Given the description of an element on the screen output the (x, y) to click on. 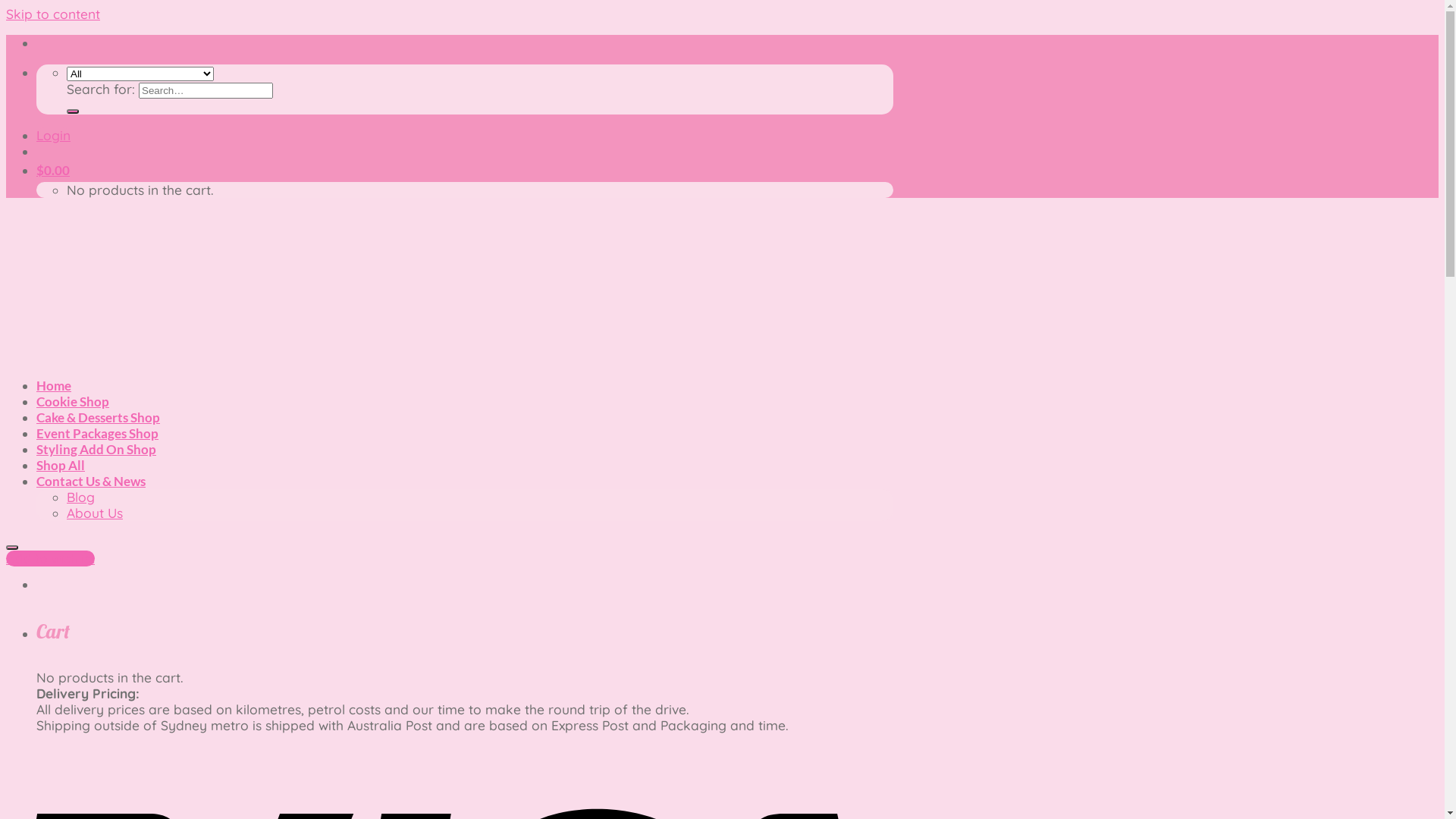
Skip to content Element type: text (53, 13)
Blog Element type: text (80, 497)
Styling Add On Shop Element type: text (96, 449)
About Us Element type: text (94, 512)
Shop All Element type: text (60, 465)
$0.00 Element type: text (52, 170)
Cake & Desserts Shop Element type: text (98, 417)
Search Element type: text (72, 111)
Home Element type: text (53, 385)
Add to wishlist Element type: text (50, 558)
Event Packages Shop Element type: text (97, 433)
Login Element type: text (53, 135)
Cookie Shop Element type: text (72, 401)
Contact Us & News Element type: text (90, 481)
